Given the description of an element on the screen output the (x, y) to click on. 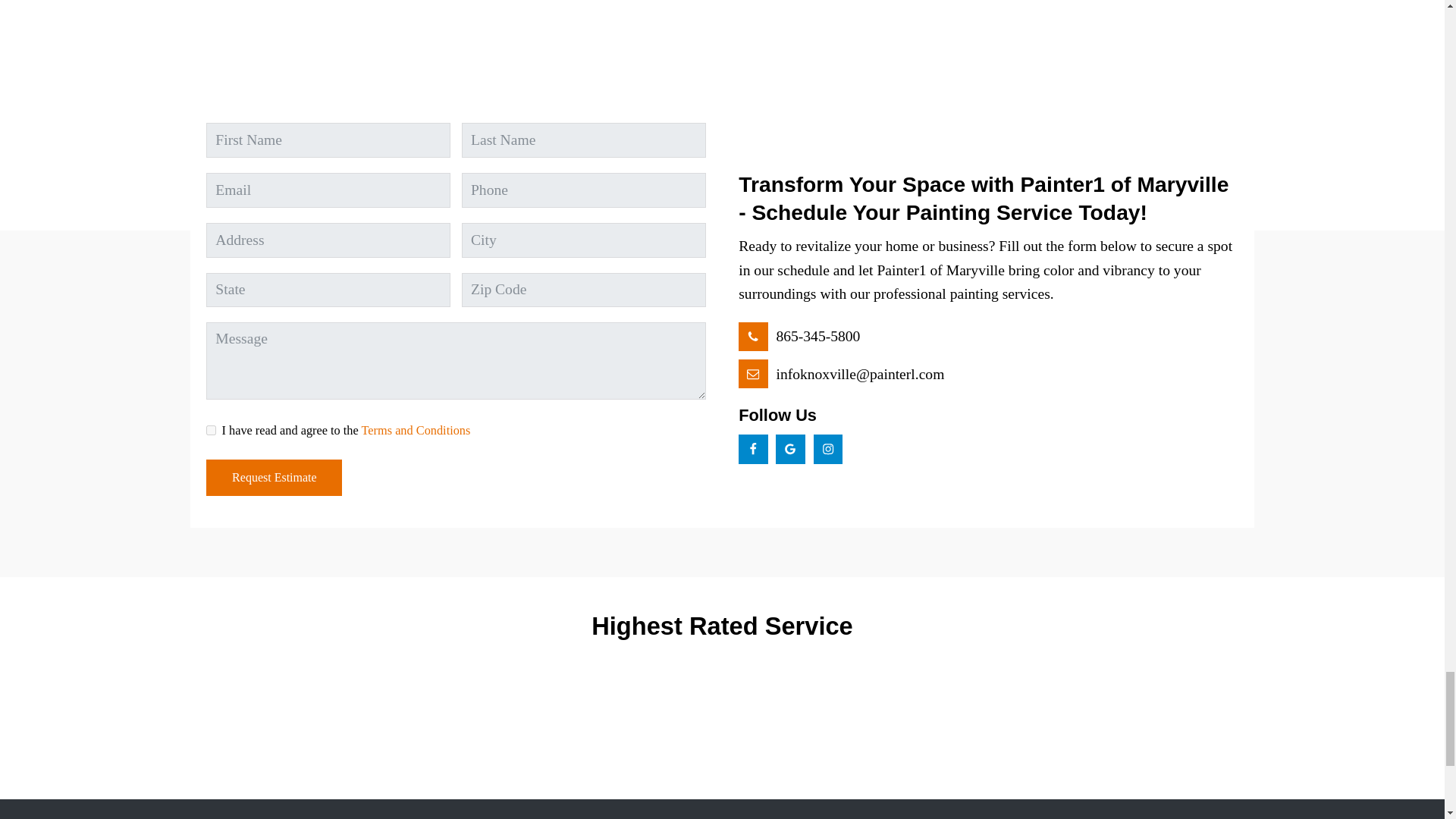
865-345-5800 (799, 336)
Terms and Conditions (415, 430)
Request Estimate (274, 477)
on (210, 429)
